Given the description of an element on the screen output the (x, y) to click on. 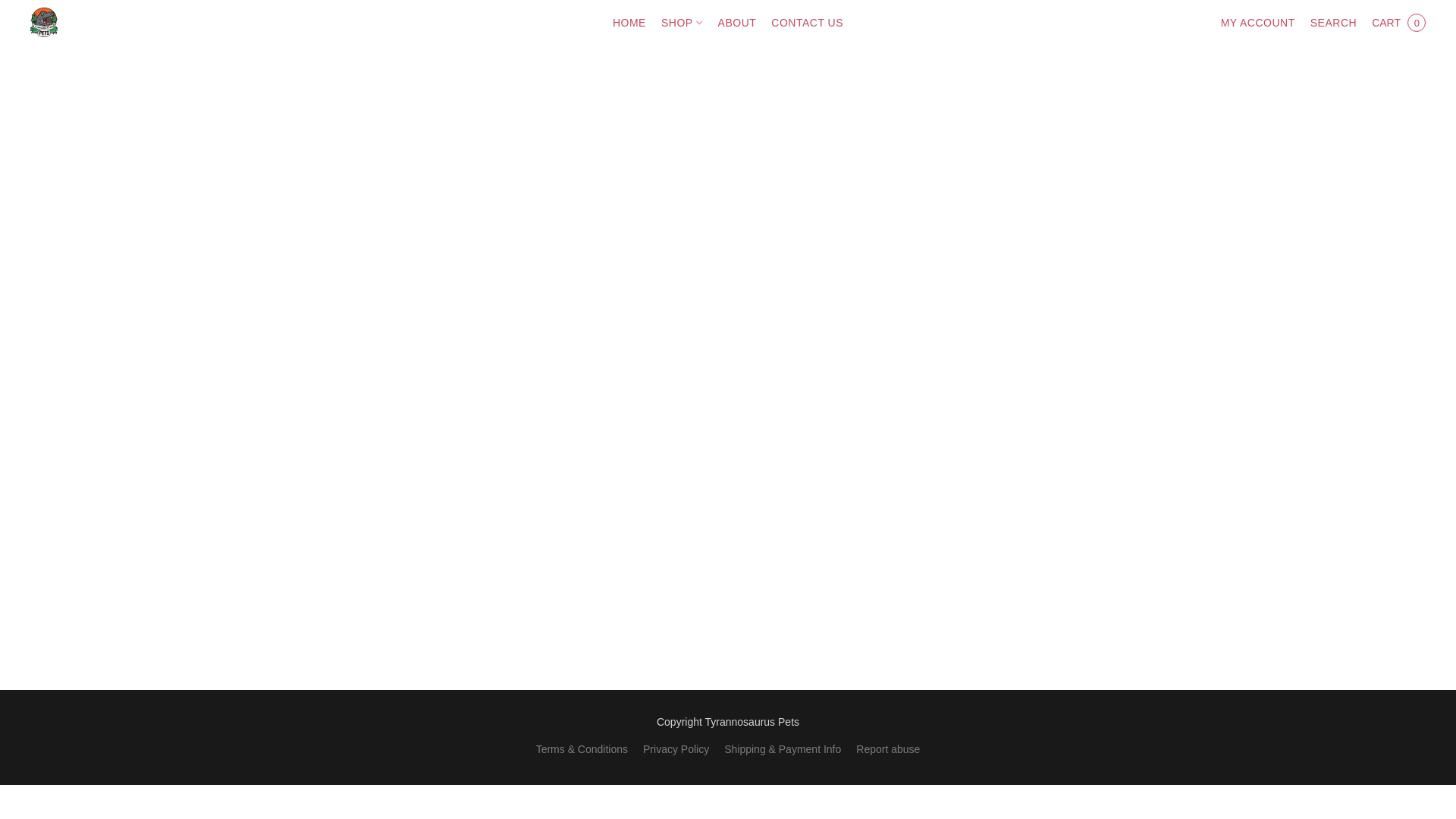
SHOP (681, 22)
MY ACCOUNT (1257, 22)
CART (1398, 22)
Go to your shopping cart (1398, 22)
SEARCH (1333, 22)
HOME (632, 22)
ABOUT (737, 22)
Search the website (1333, 22)
Report abuse (888, 749)
CONTACT US (802, 22)
Privacy Policy (676, 749)
